Given the description of an element on the screen output the (x, y) to click on. 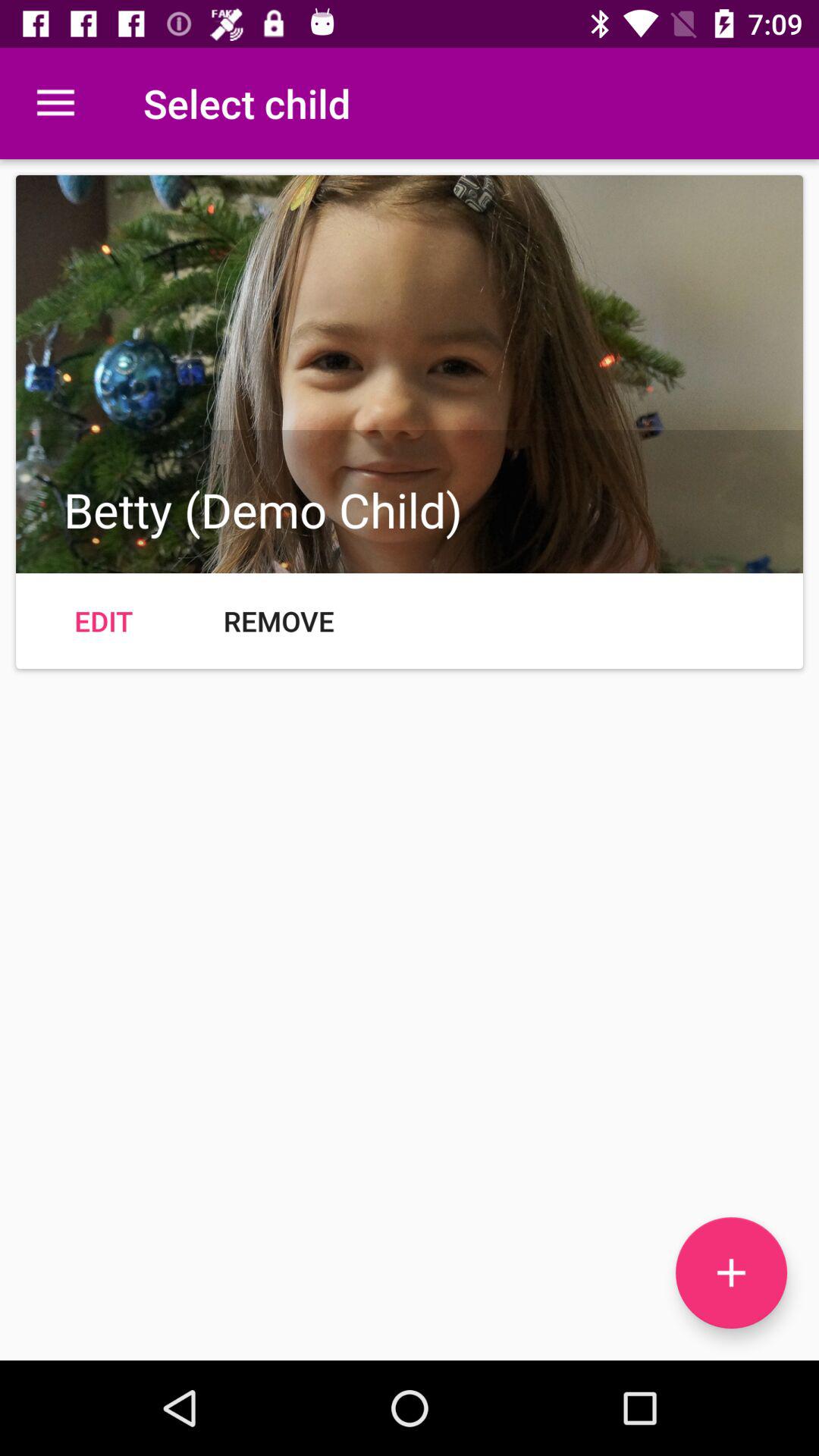
add moment (731, 1272)
